Given the description of an element on the screen output the (x, y) to click on. 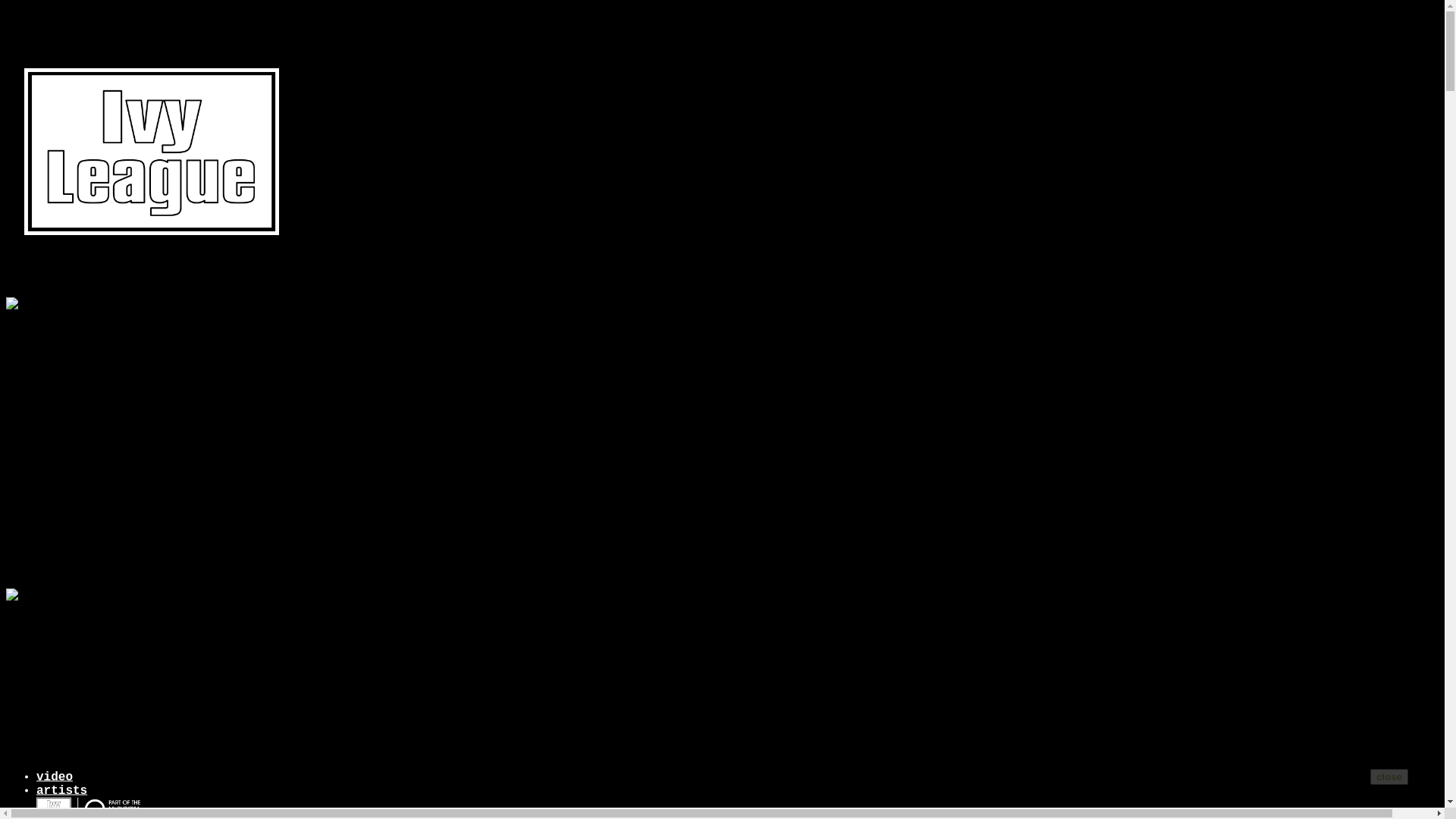
video Element type: text (54, 777)
close Element type: text (1389, 776)
artists Element type: text (61, 790)
